Given the description of an element on the screen output the (x, y) to click on. 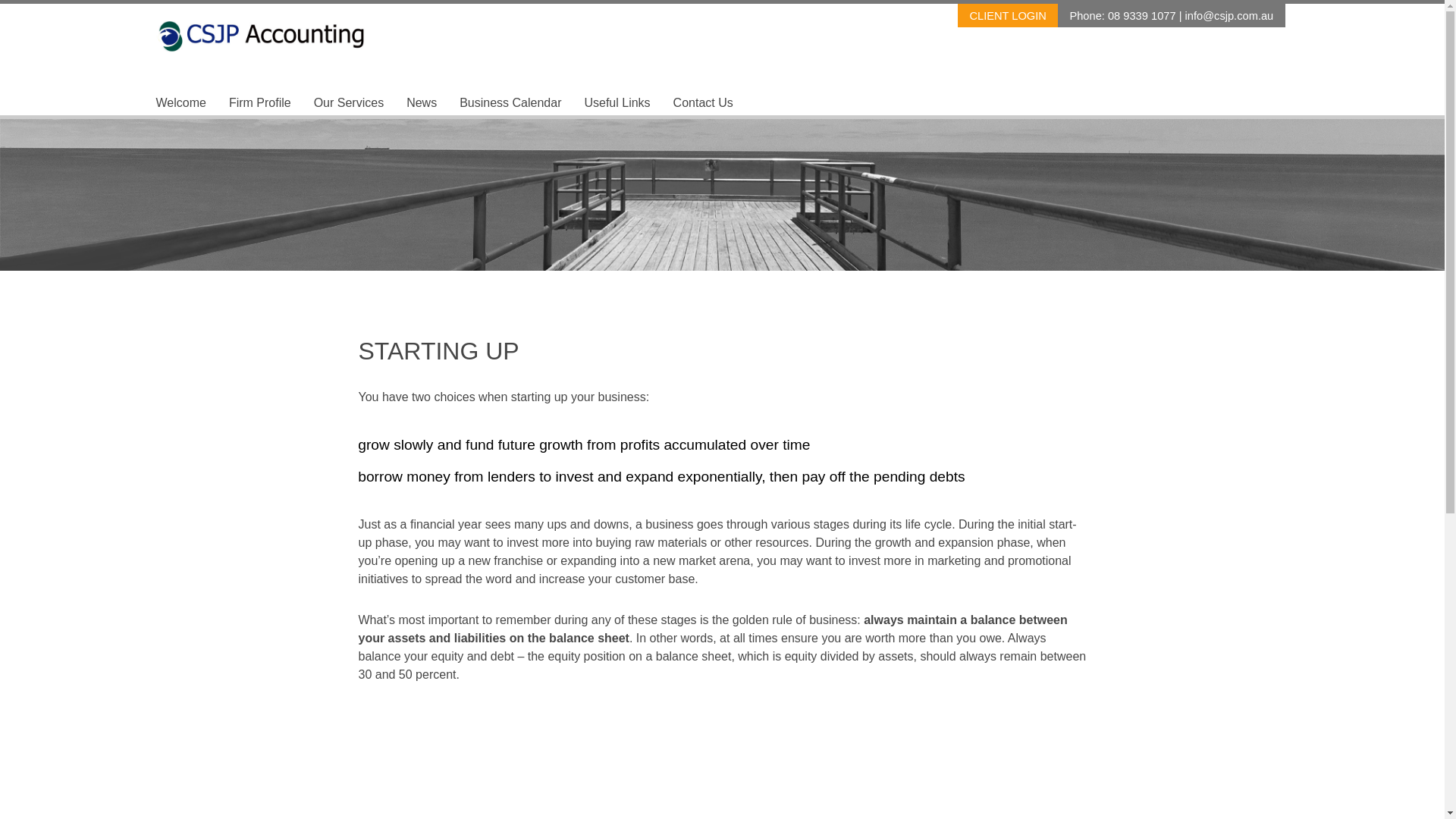
info@csjp.com.au Element type: text (1229, 15)
Useful Links Element type: text (616, 102)
csjp logo Element type: hover (269, 36)
Welcome Element type: text (181, 102)
Business Calendar Element type: text (510, 102)
CLIENT LOGIN Element type: text (1007, 15)
News Element type: text (421, 102)
Contact Us Element type: text (703, 102)
Firm Profile Element type: text (260, 102)
Our Services Element type: text (348, 102)
